Given the description of an element on the screen output the (x, y) to click on. 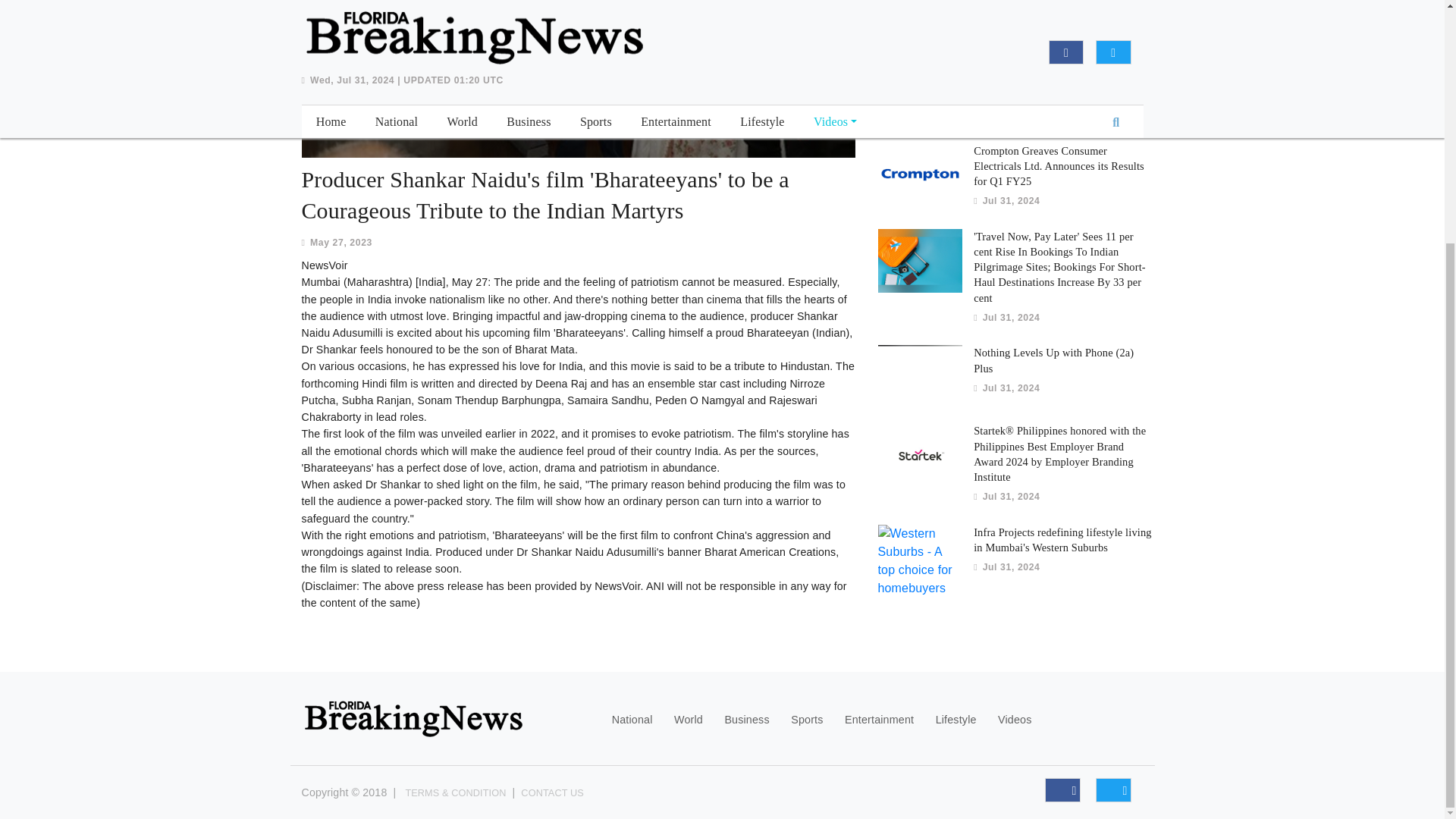
Business (745, 719)
Sports (806, 719)
Entertainment (879, 719)
World (688, 719)
National (631, 719)
Lifestyle (956, 719)
